Given the description of an element on the screen output the (x, y) to click on. 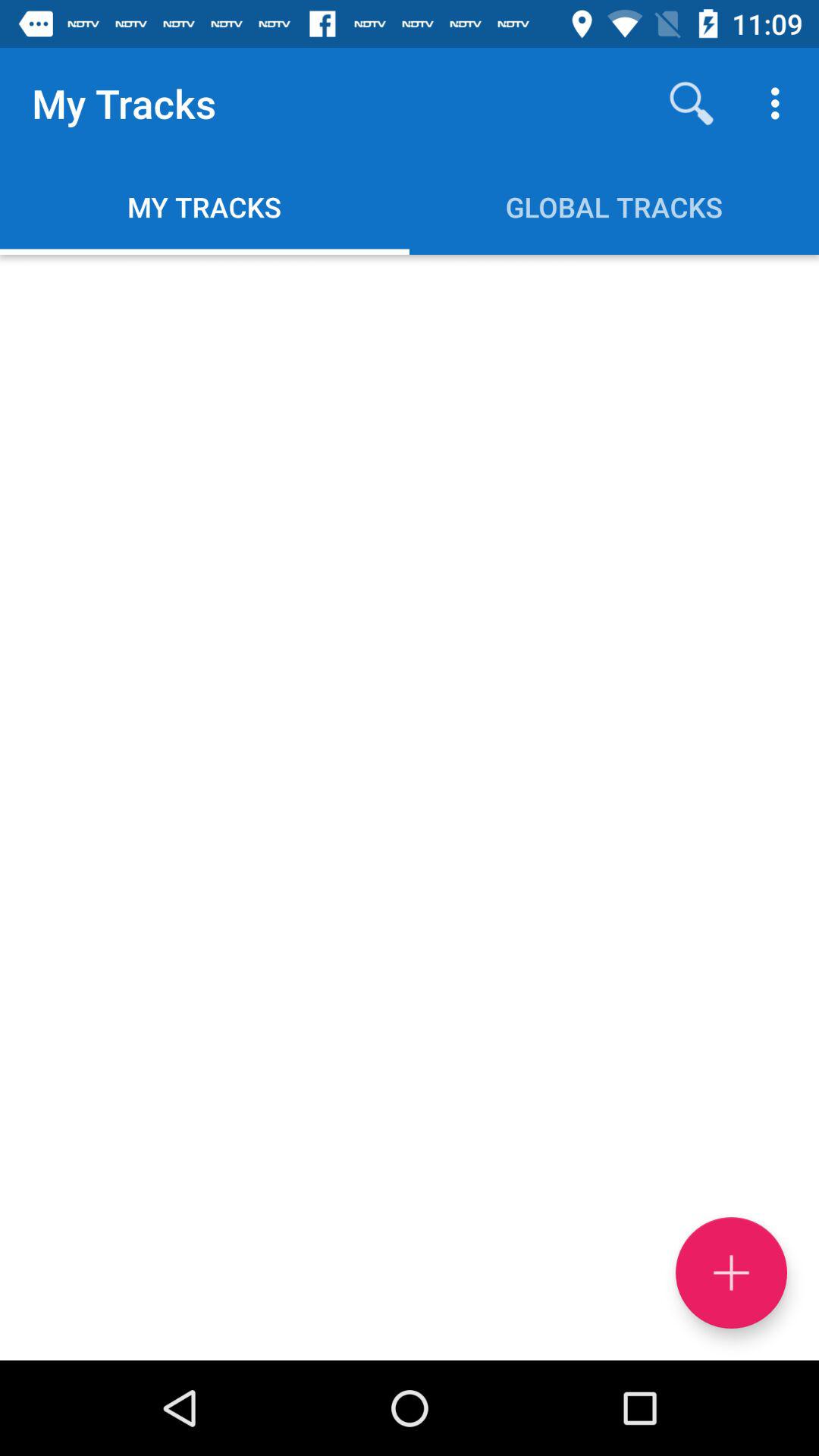
launch item next to my tracks icon (691, 103)
